Given the description of an element on the screen output the (x, y) to click on. 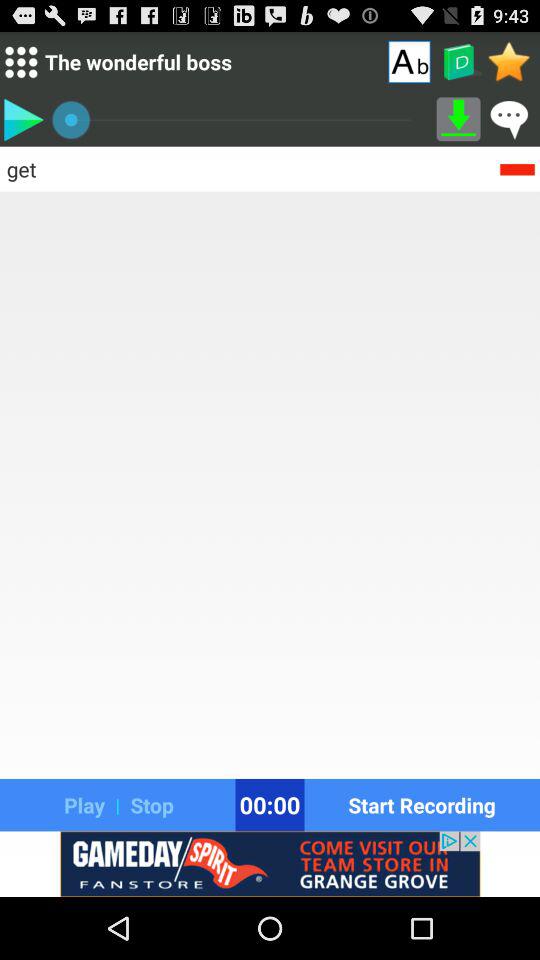
click to play option (23, 119)
